Given the description of an element on the screen output the (x, y) to click on. 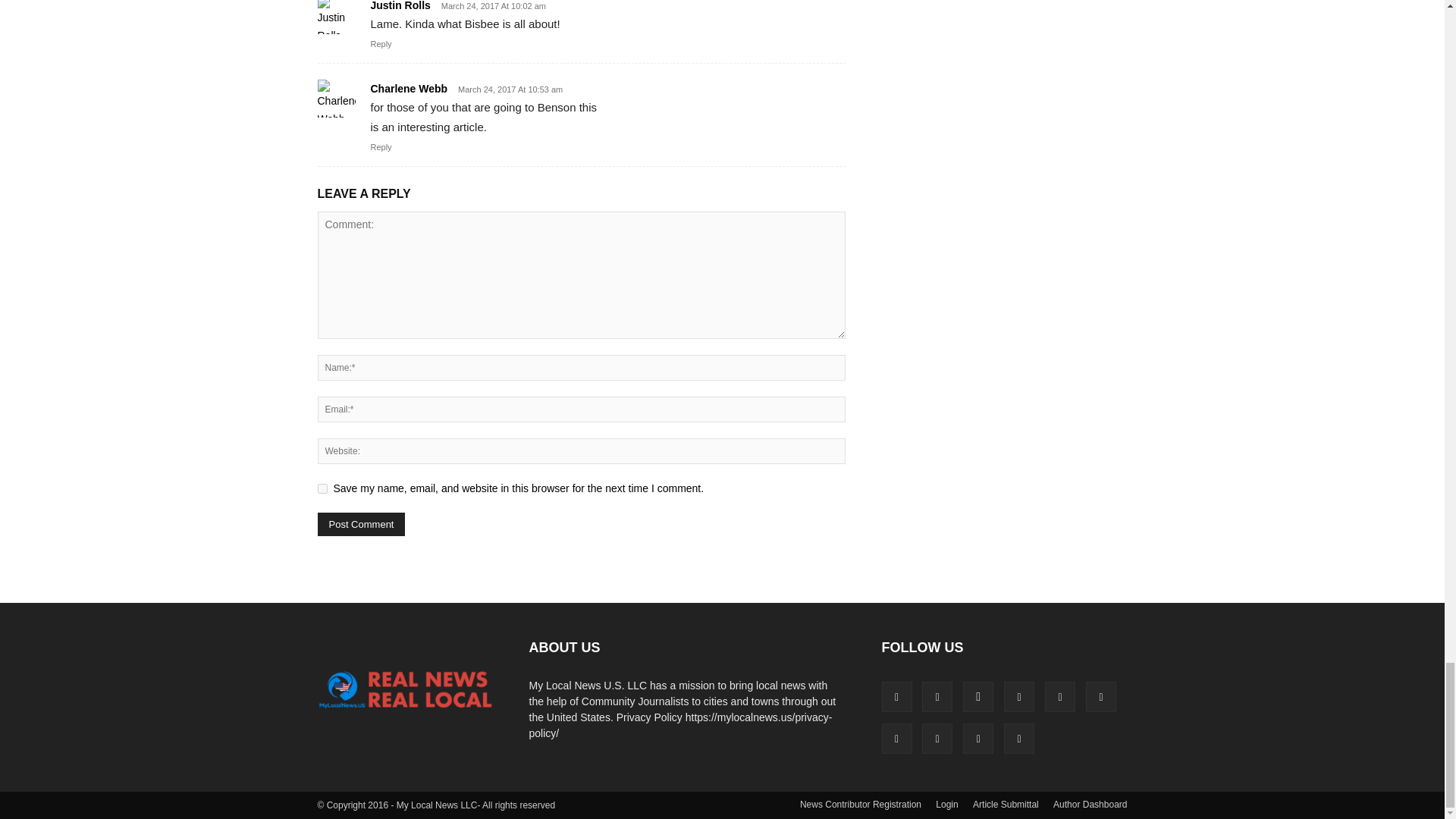
Post Comment (360, 524)
yes (321, 488)
